Given the description of an element on the screen output the (x, y) to click on. 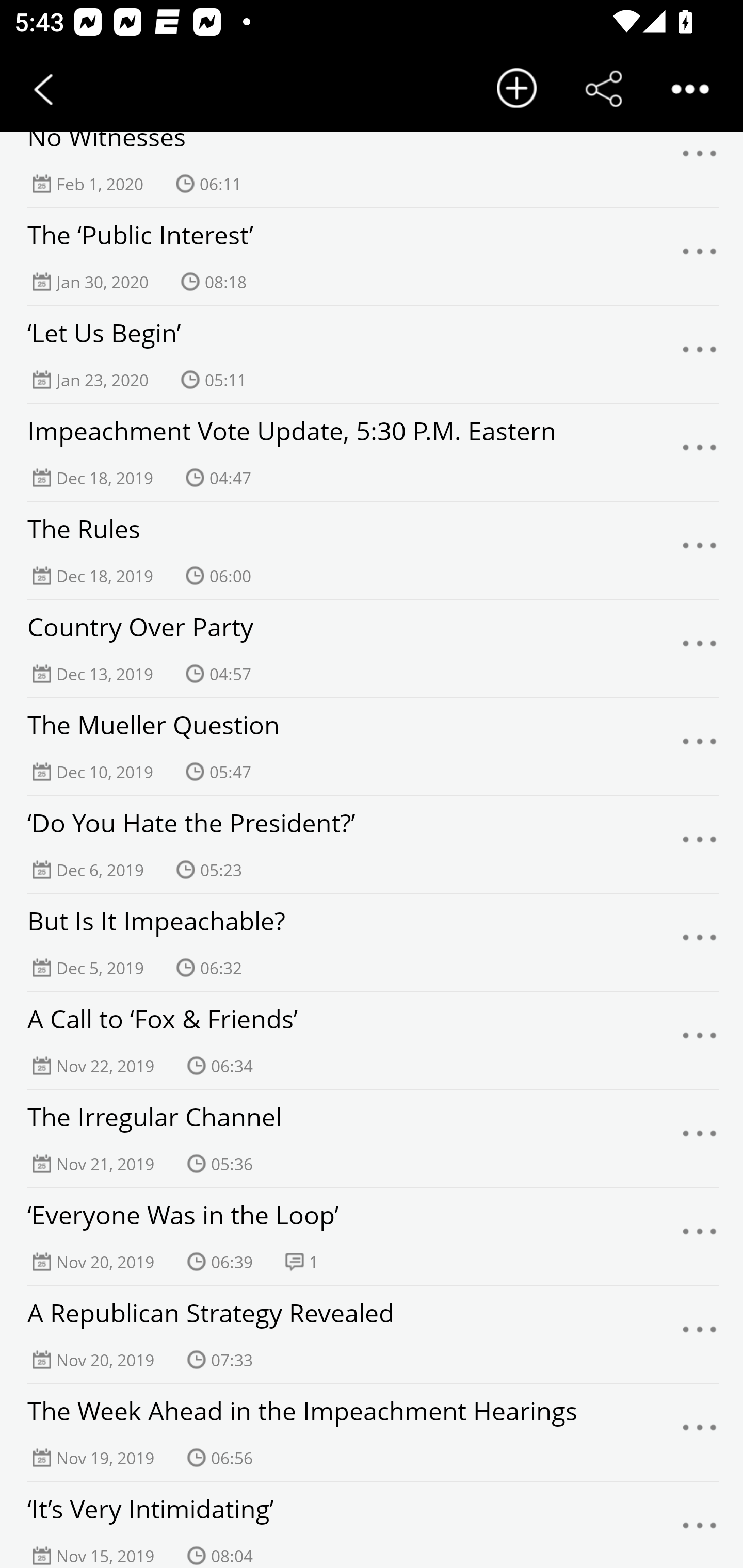
Back (43, 88)
No Witnesses Feb 1, 2020 06:11 Menu (371, 158)
Menu (699, 159)
The ‘Public Interest’ Jan 30, 2020 08:18 Menu (371, 256)
Menu (699, 256)
‘Let Us Begin’ Jan 23, 2020 05:11 Menu (371, 354)
Menu (699, 355)
Menu (699, 452)
The Rules Dec 18, 2019 06:00 Menu (371, 550)
Menu (699, 551)
Country Over Party Dec 13, 2019 04:57 Menu (371, 648)
Menu (699, 648)
The Mueller Question Dec 10, 2019 05:47 Menu (371, 746)
Menu (699, 747)
Menu (699, 844)
But Is It Impeachable? Dec 5, 2019 06:32 Menu (371, 942)
Menu (699, 943)
A Call to ‘Fox & Friends’ Nov 22, 2019 06:34 Menu (371, 1040)
Menu (699, 1040)
The Irregular Channel Nov 21, 2019 05:36 Menu (371, 1138)
Menu (699, 1139)
Menu (699, 1236)
Menu (699, 1335)
Menu (699, 1432)
‘It’s Very Intimidating’ Nov 15, 2019 08:04 Menu (371, 1524)
Menu (699, 1528)
